Given the description of an element on the screen output the (x, y) to click on. 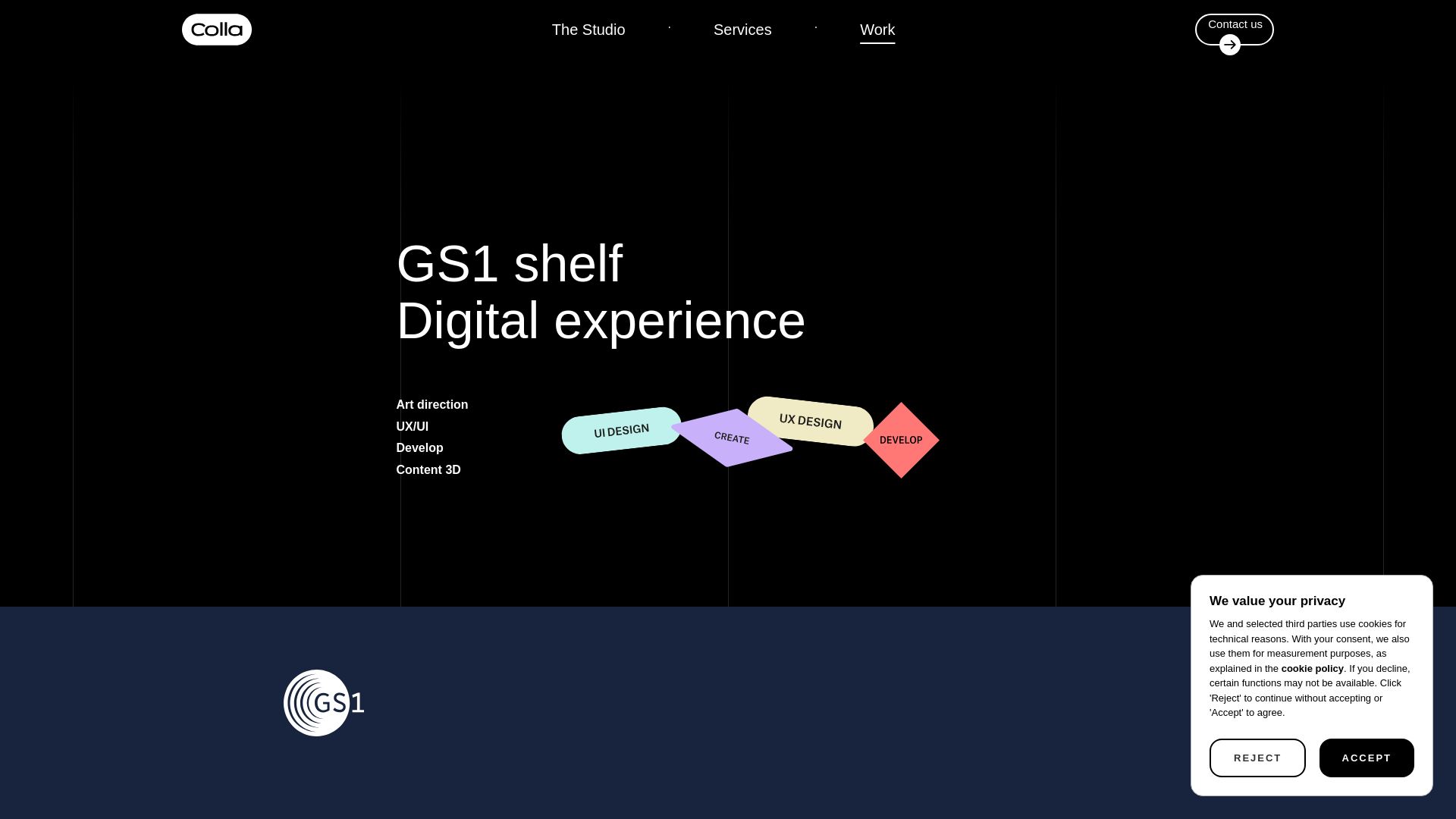
Contact us (1234, 29)
cookie policy (1312, 668)
ACCEPT (1366, 758)
The Studio (588, 29)
Services (742, 29)
Work (877, 29)
our works (877, 29)
homepage (216, 29)
Contact us (1234, 35)
the studio (588, 29)
